Given the description of an element on the screen output the (x, y) to click on. 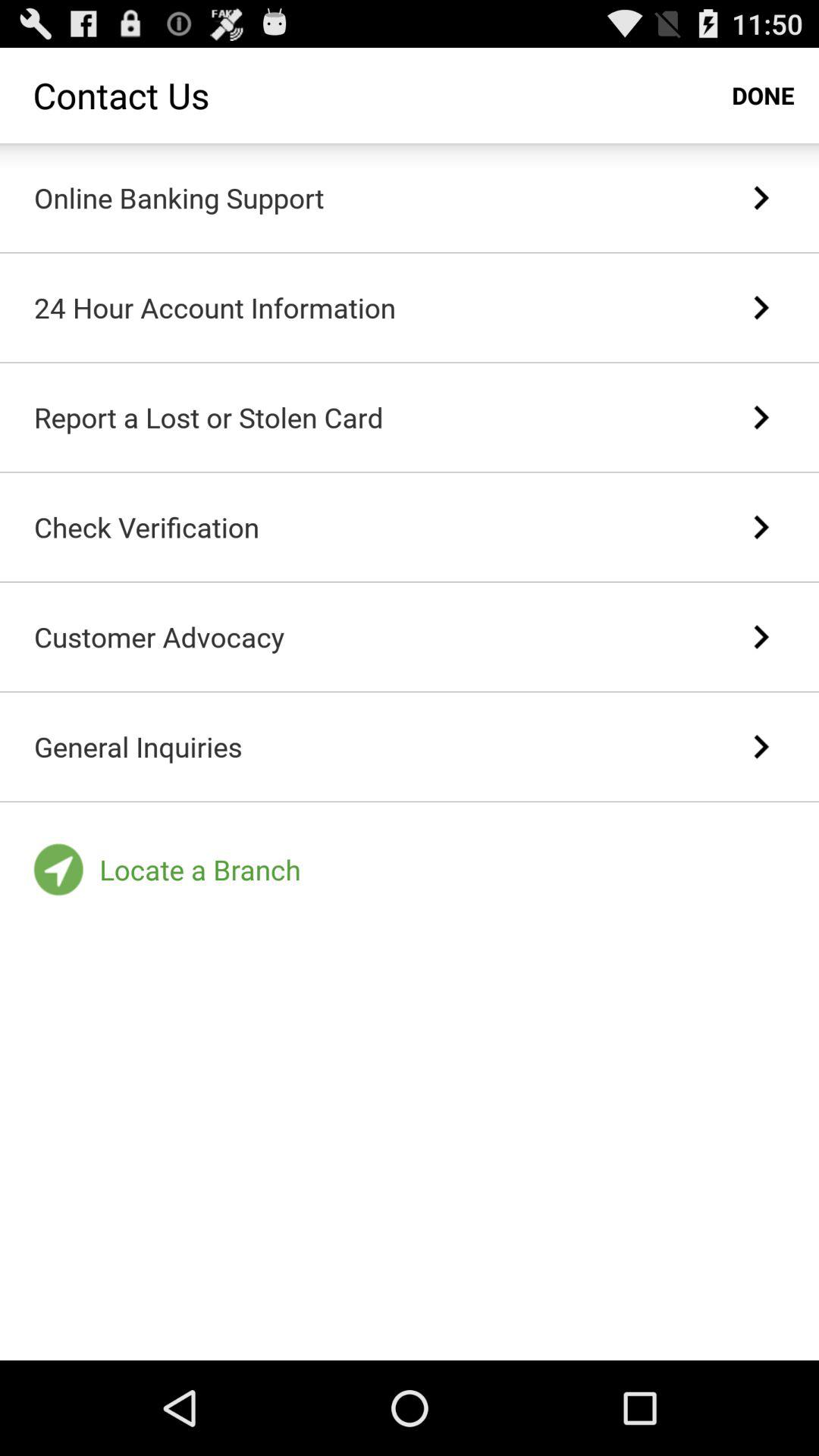
select the icon to the right of the contact us (763, 95)
